Given the description of an element on the screen output the (x, y) to click on. 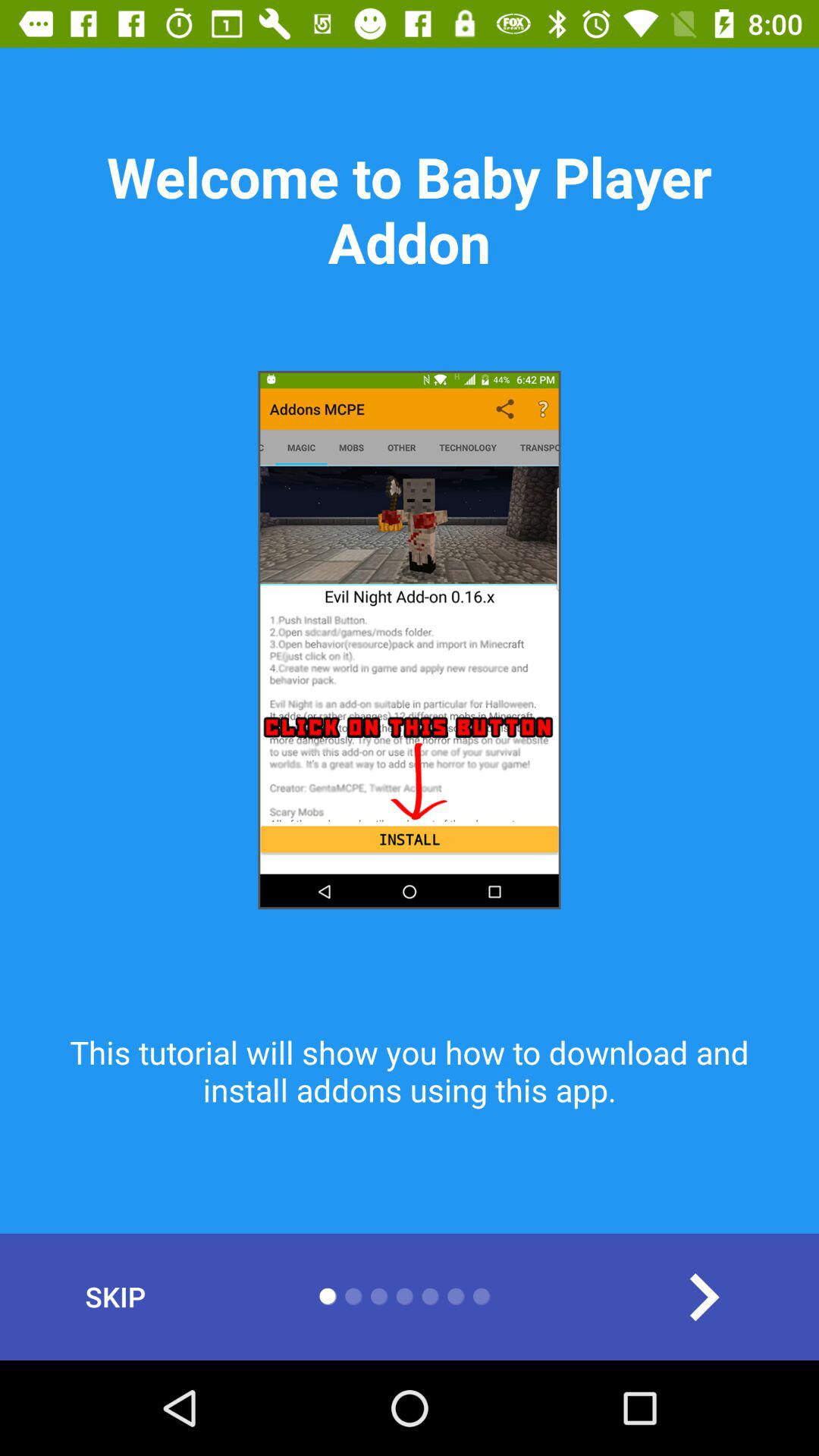
choose the item at the bottom right corner (703, 1296)
